Given the description of an element on the screen output the (x, y) to click on. 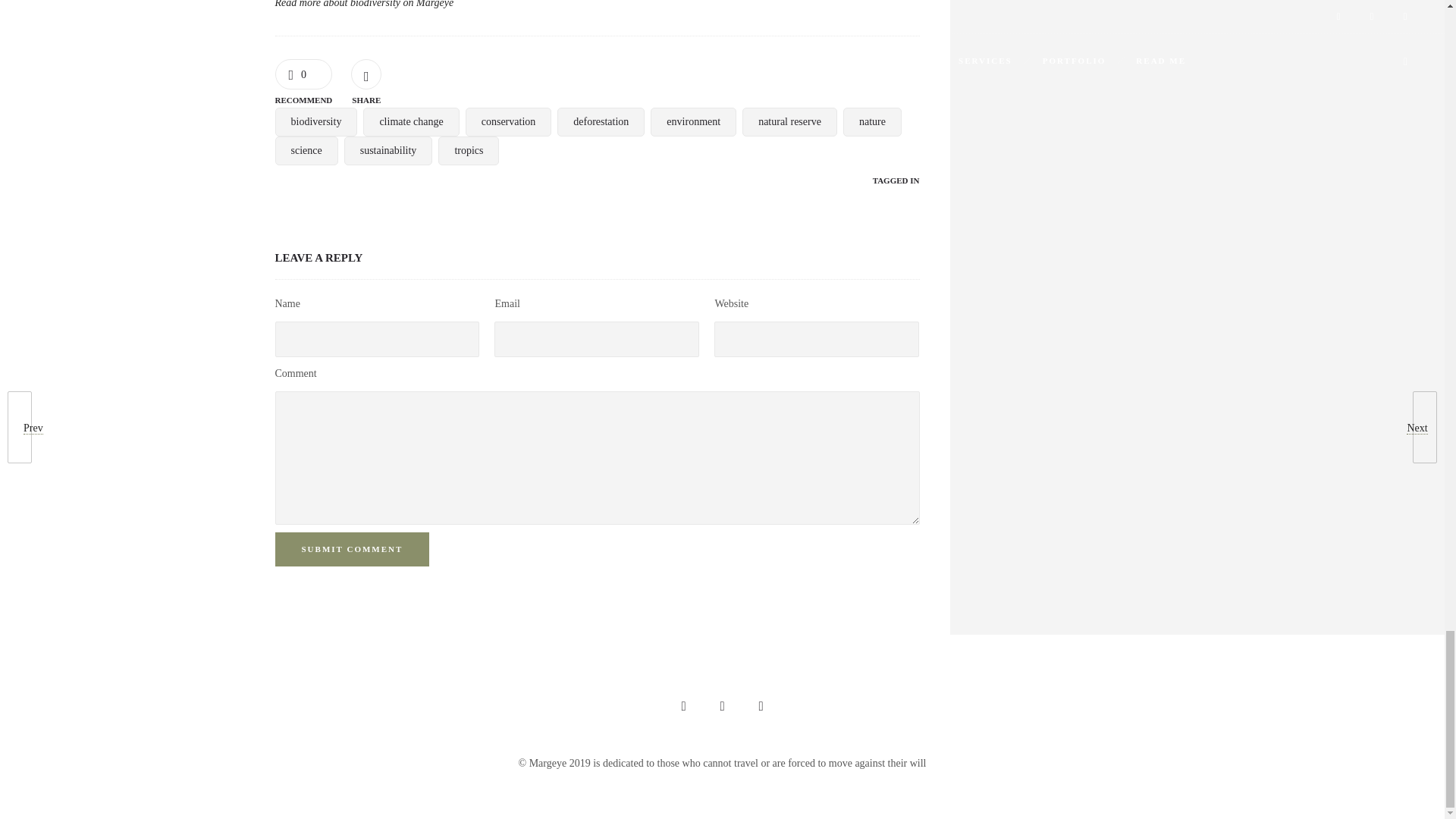
Twitter (759, 706)
LinkedIN (722, 706)
Instagram (682, 706)
